Given the description of an element on the screen output the (x, y) to click on. 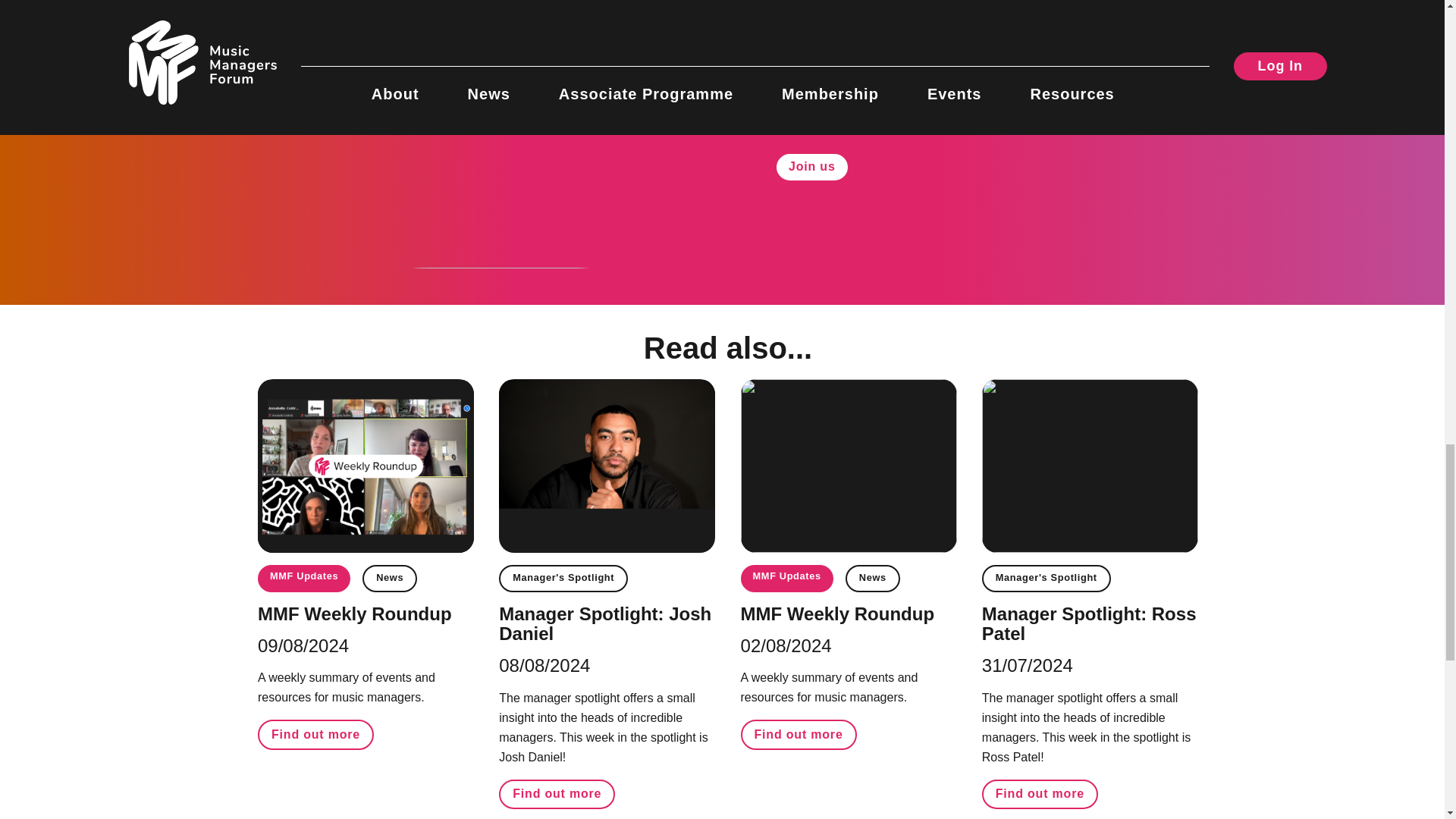
Join us (811, 166)
News (389, 578)
Find out more (799, 734)
Manager's Spotlight (1045, 578)
Manager's Spotlight (563, 578)
MMF Updates (303, 578)
MMF Updates (786, 578)
Find out more (556, 794)
Find out more (1039, 794)
Find out more (315, 734)
